Given the description of an element on the screen output the (x, y) to click on. 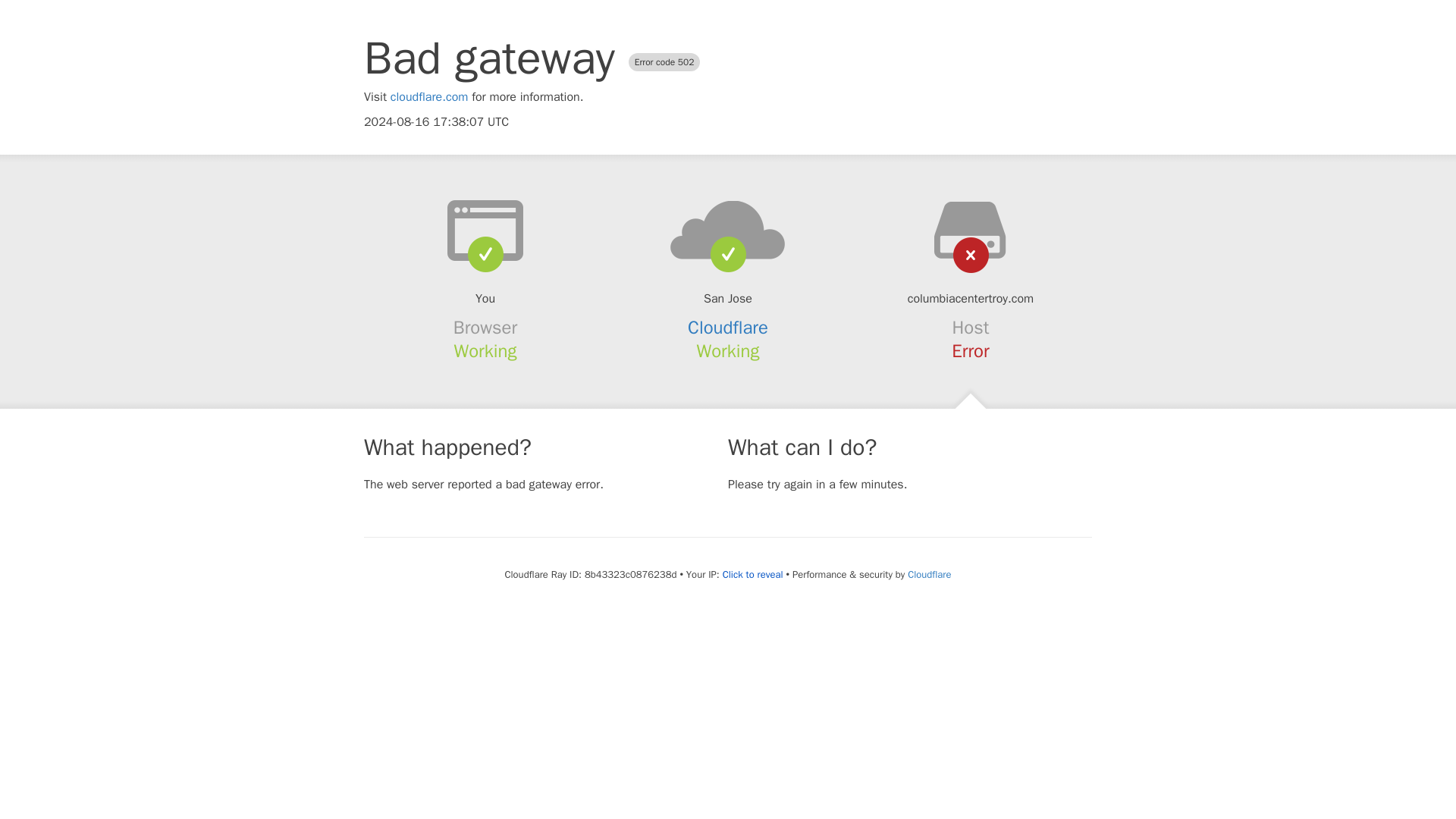
Cloudflare (727, 327)
cloudflare.com (429, 96)
Click to reveal (752, 574)
Cloudflare (928, 574)
